Given the description of an element on the screen output the (x, y) to click on. 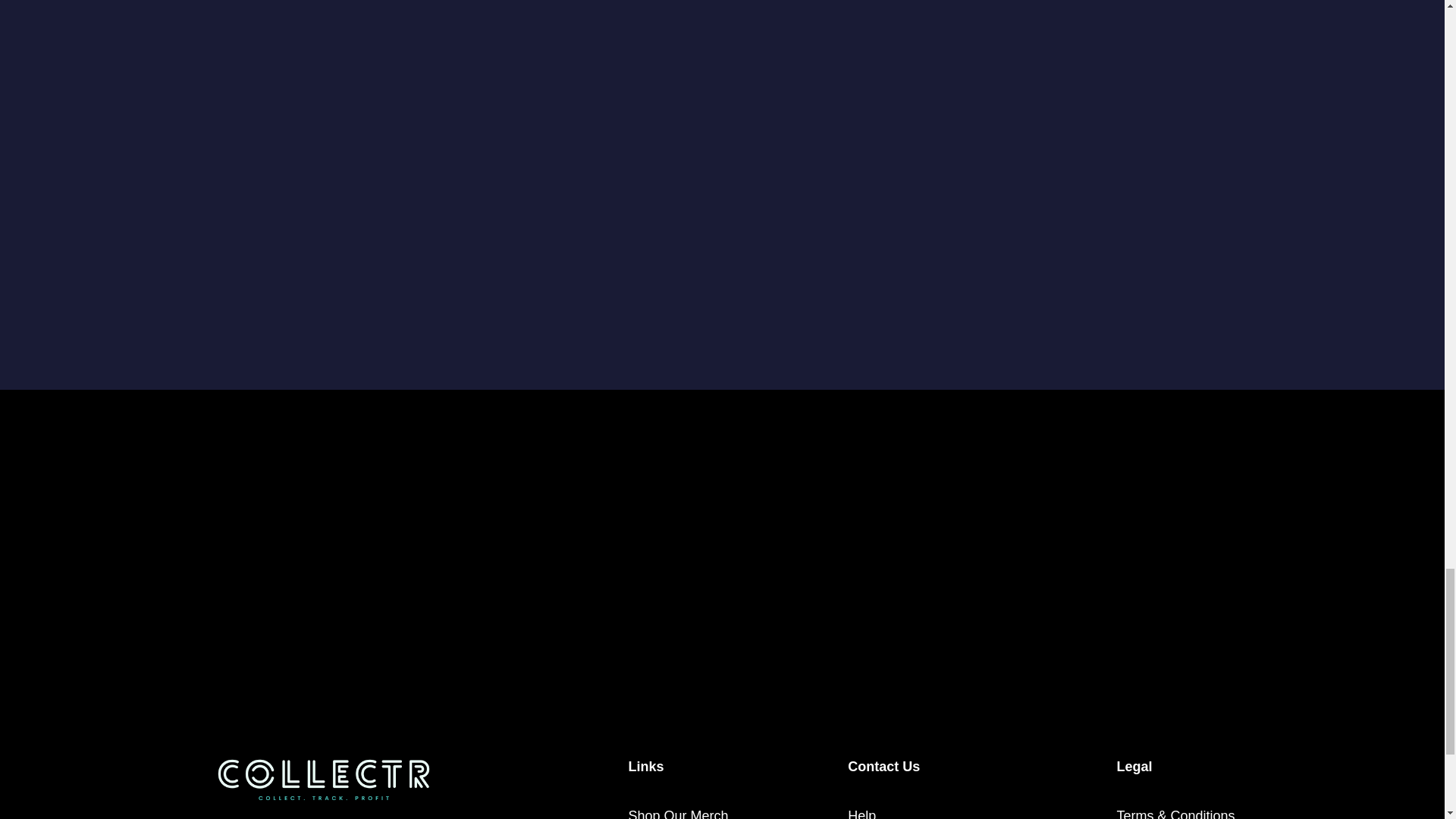
Help (861, 809)
Shop Our Merch (677, 809)
